Given the description of an element on the screen output the (x, y) to click on. 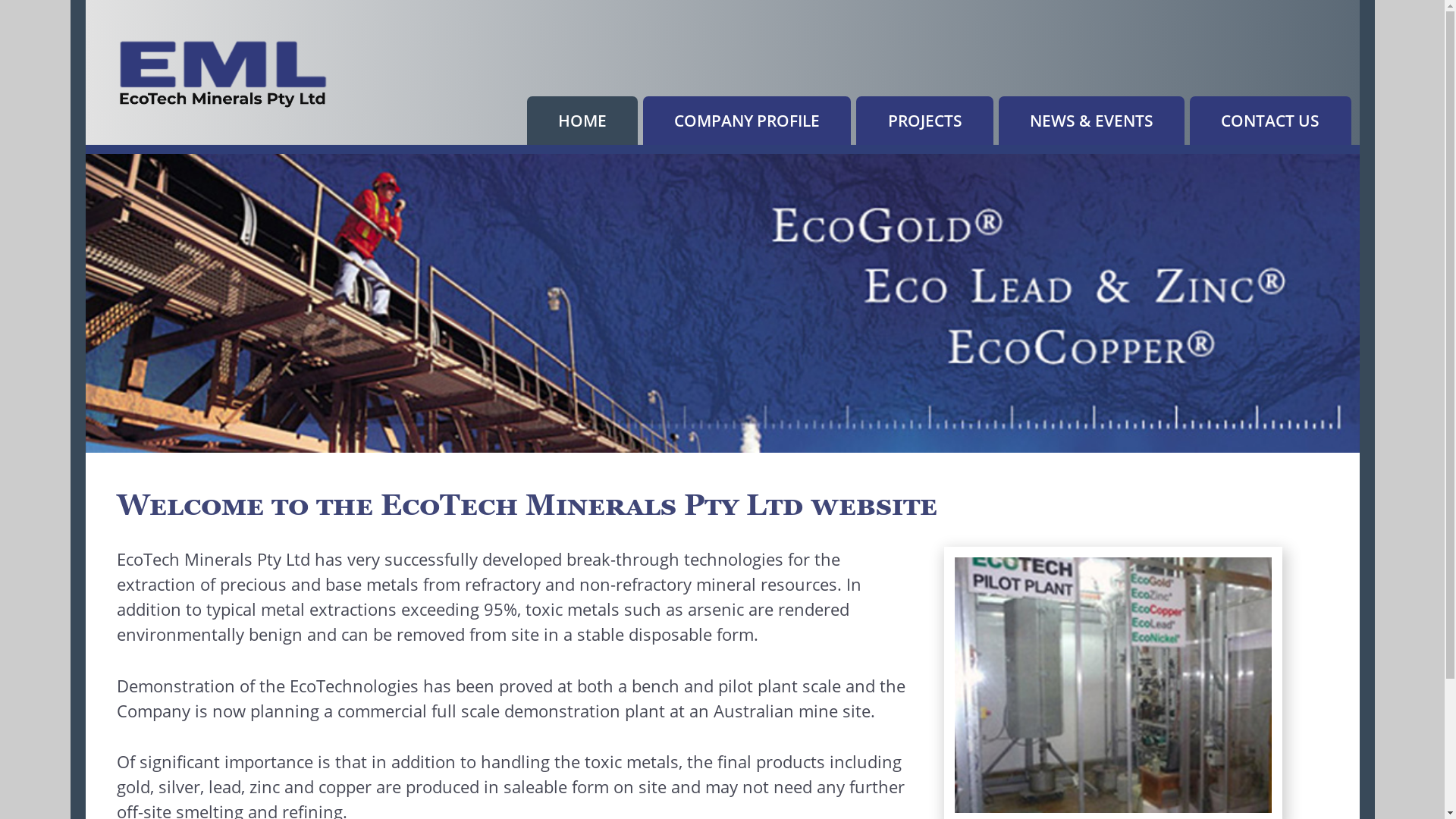
COMPANY PROFILE Element type: text (747, 120)
PROJECTS Element type: text (924, 120)
EcoTech Mining Limited Element type: hover (223, 74)
CONTACT US Element type: text (1270, 120)
NEWS & EVENTS Element type: text (1091, 120)
HOME Element type: text (581, 120)
